Given the description of an element on the screen output the (x, y) to click on. 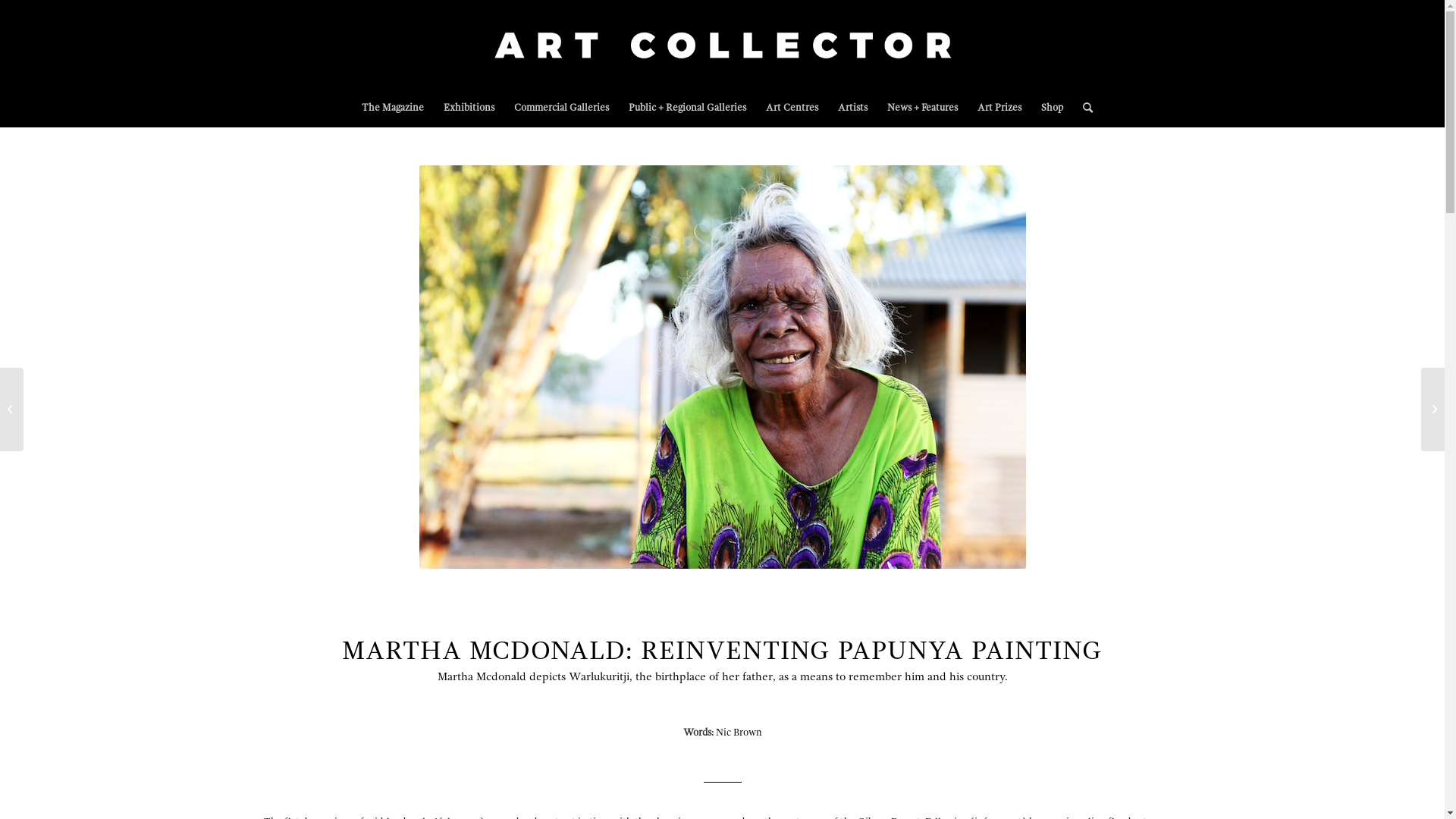
The Magazine Element type: text (392, 108)
Martha at home Element type: hover (721, 366)
Public + Regional Galleries Element type: text (687, 108)
News + Features Element type: text (922, 108)
Art Centres Element type: text (792, 108)
Exhibitions Element type: text (468, 108)
Commercial Galleries Element type: text (561, 108)
Artists Element type: text (852, 108)
Art Prizes Element type: text (999, 108)
Shop Element type: text (1052, 108)
